Given the description of an element on the screen output the (x, y) to click on. 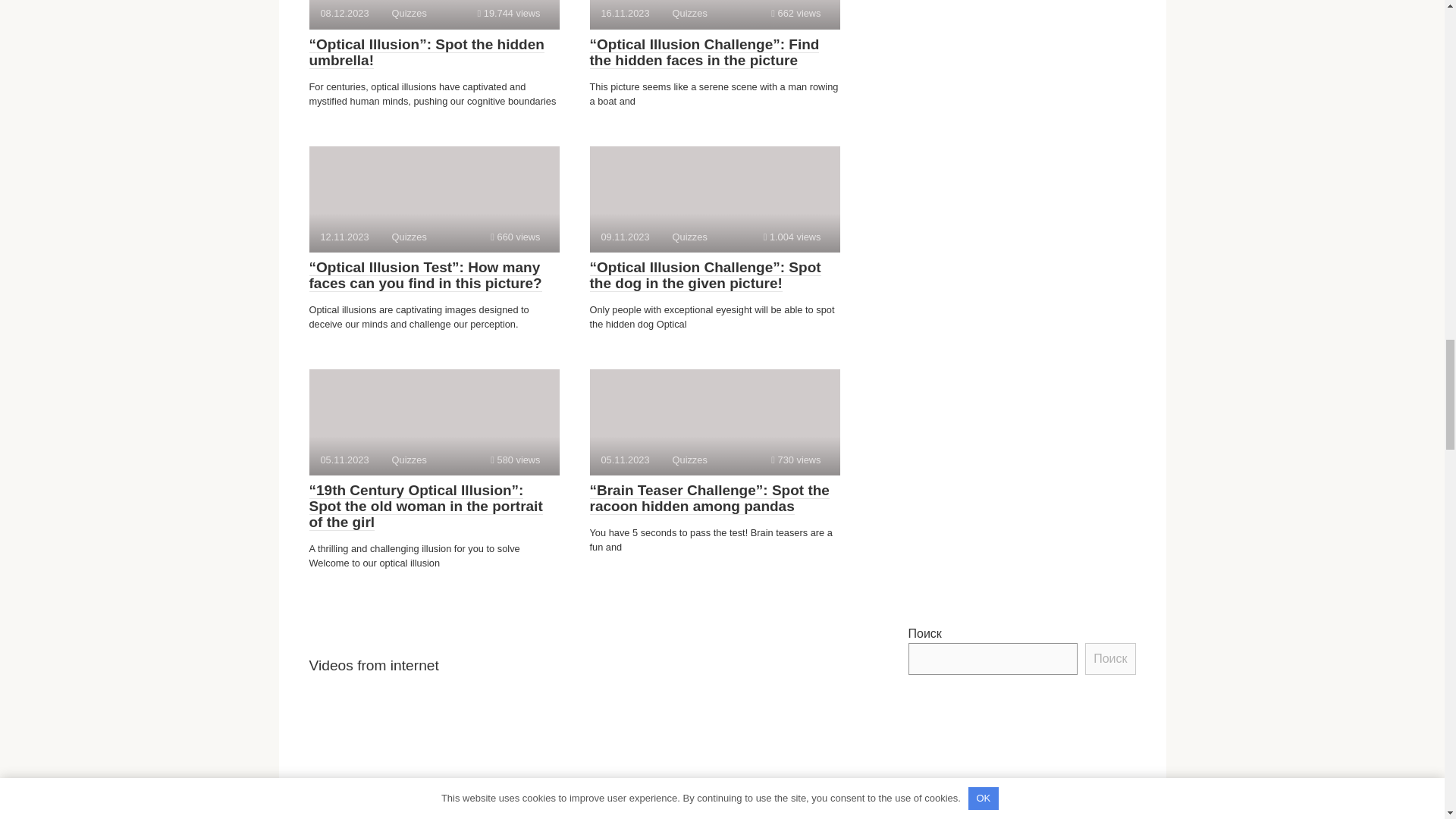
Views (791, 236)
Views (508, 12)
Views (433, 14)
Views (714, 422)
Views (796, 12)
Views (796, 460)
